Given the description of an element on the screen output the (x, y) to click on. 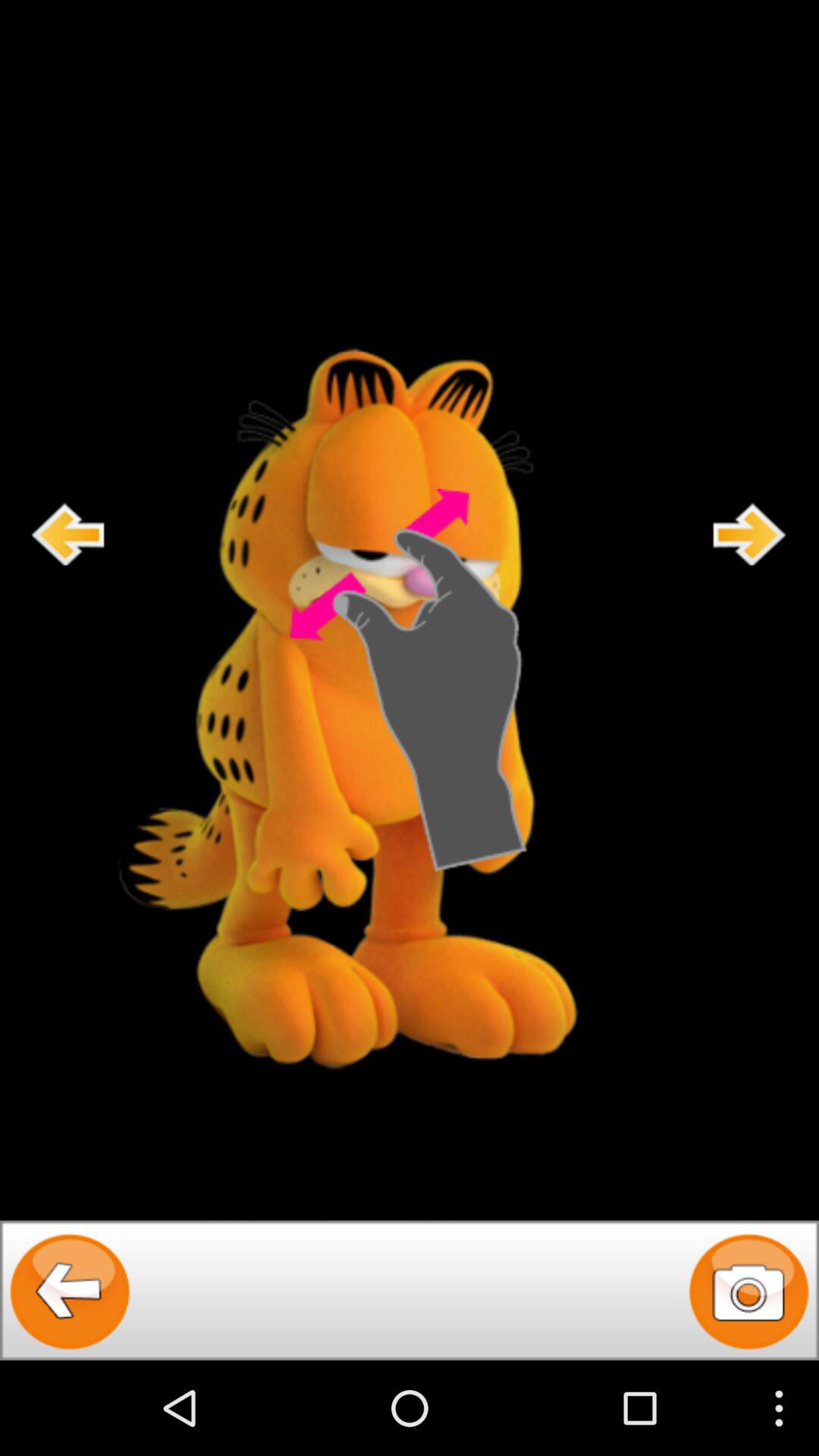
foward (750, 533)
